Given the description of an element on the screen output the (x, y) to click on. 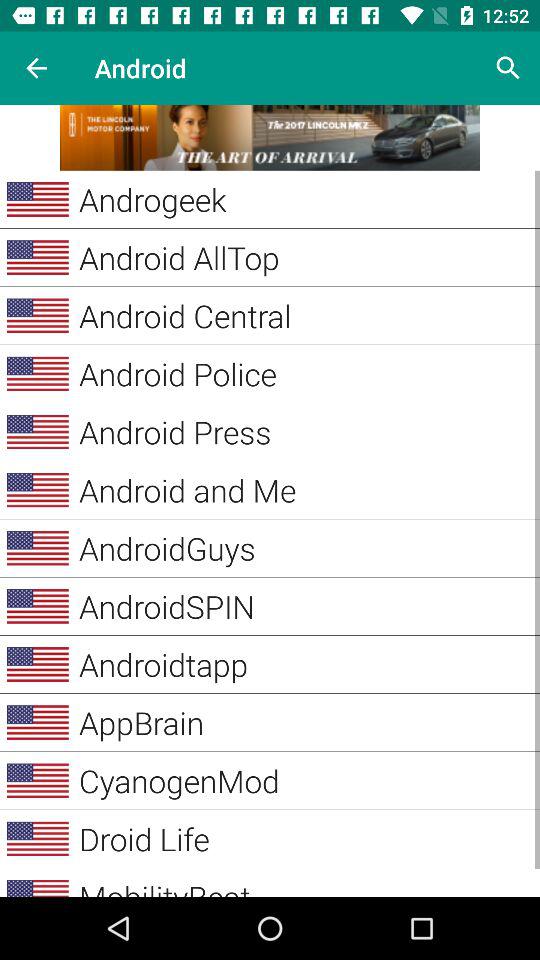
select the advertisement (270, 137)
